Given the description of an element on the screen output the (x, y) to click on. 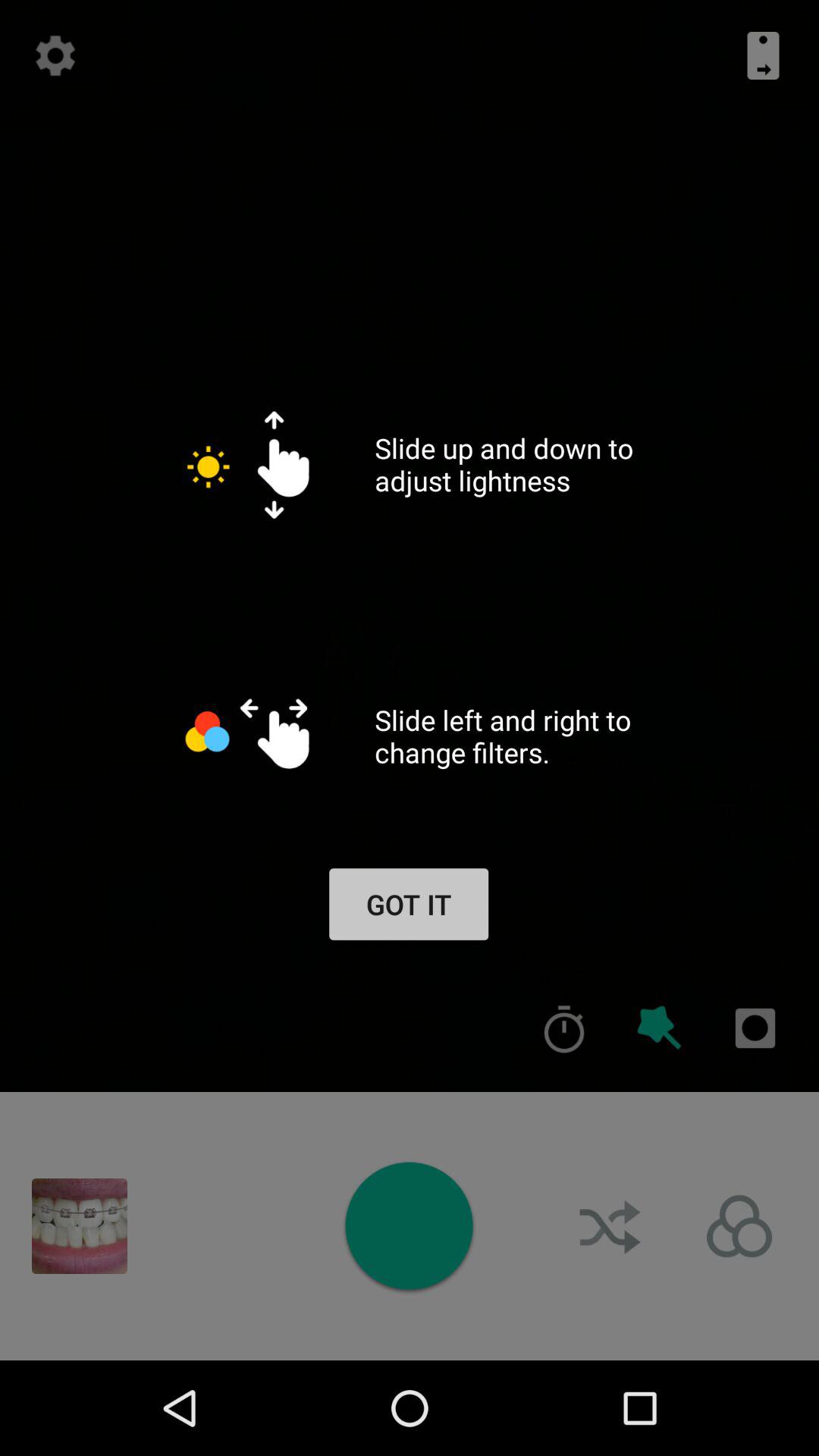
add effects (659, 1028)
